Given the description of an element on the screen output the (x, y) to click on. 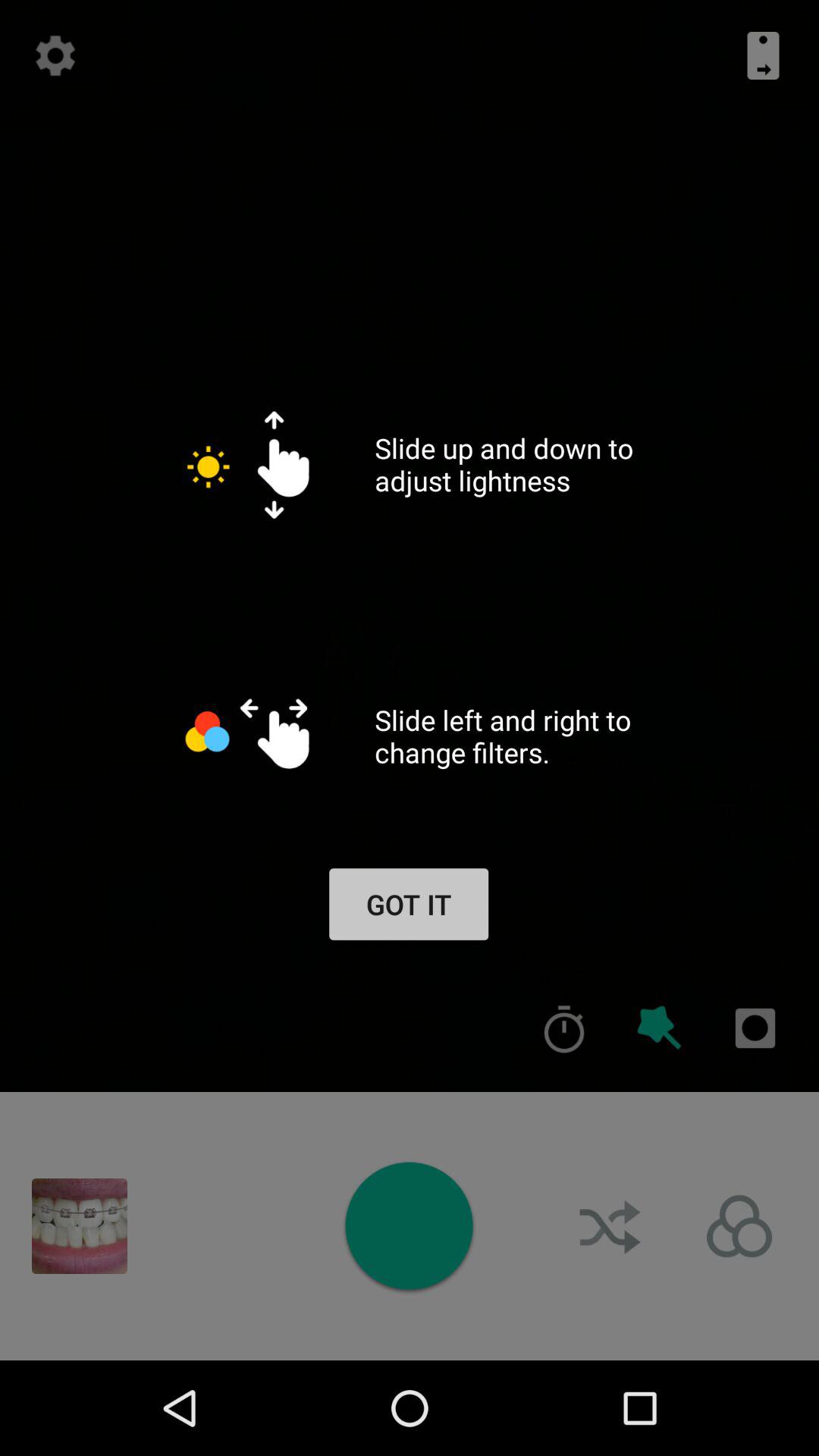
add effects (659, 1028)
